Given the description of an element on the screen output the (x, y) to click on. 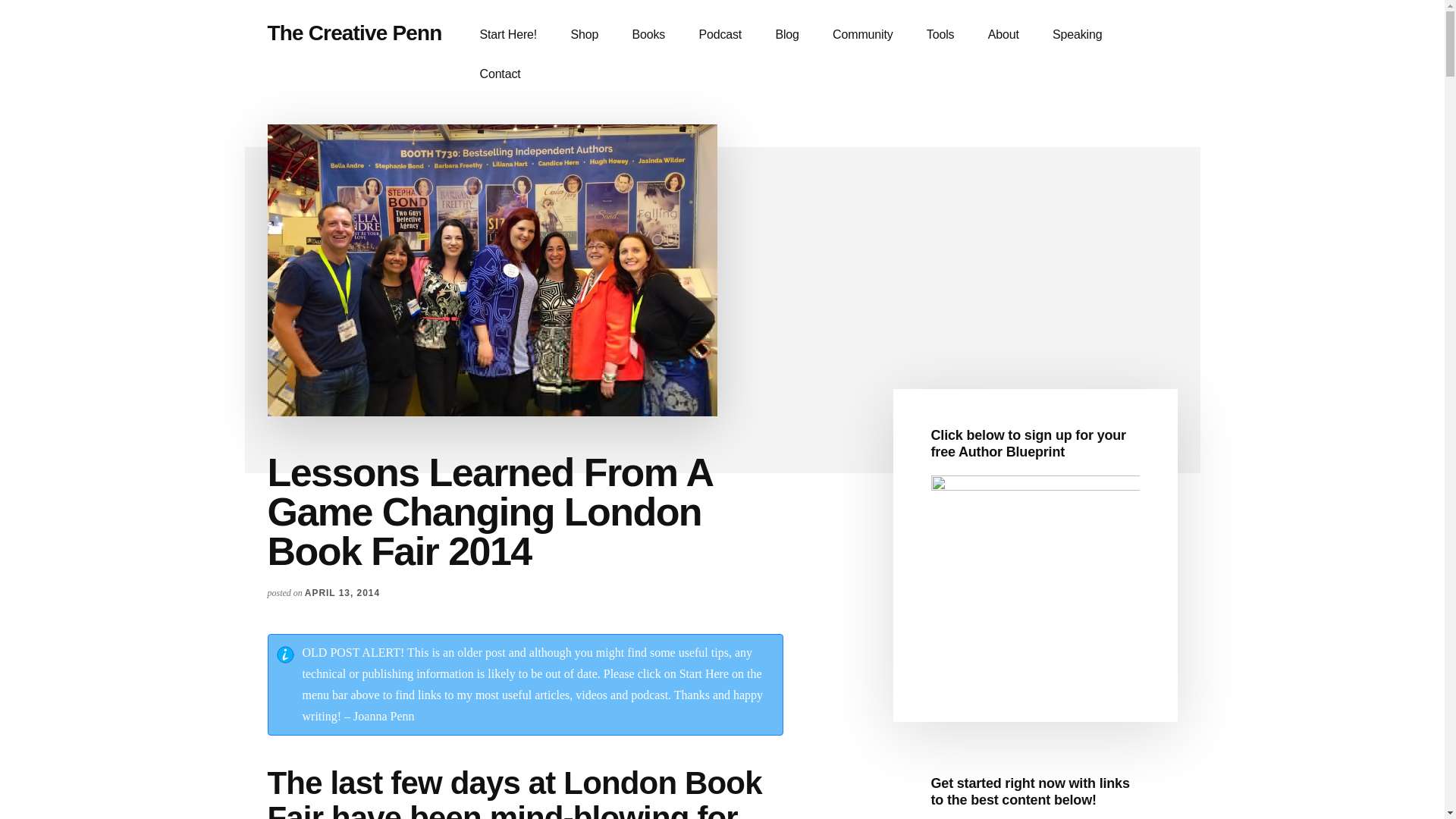
Podcast (719, 34)
The Creative Penn (353, 33)
Tools (940, 34)
Community (861, 34)
Speaking (1076, 34)
Start Here! (507, 34)
About (1002, 34)
Blog (786, 34)
Books (647, 34)
